Given the description of an element on the screen output the (x, y) to click on. 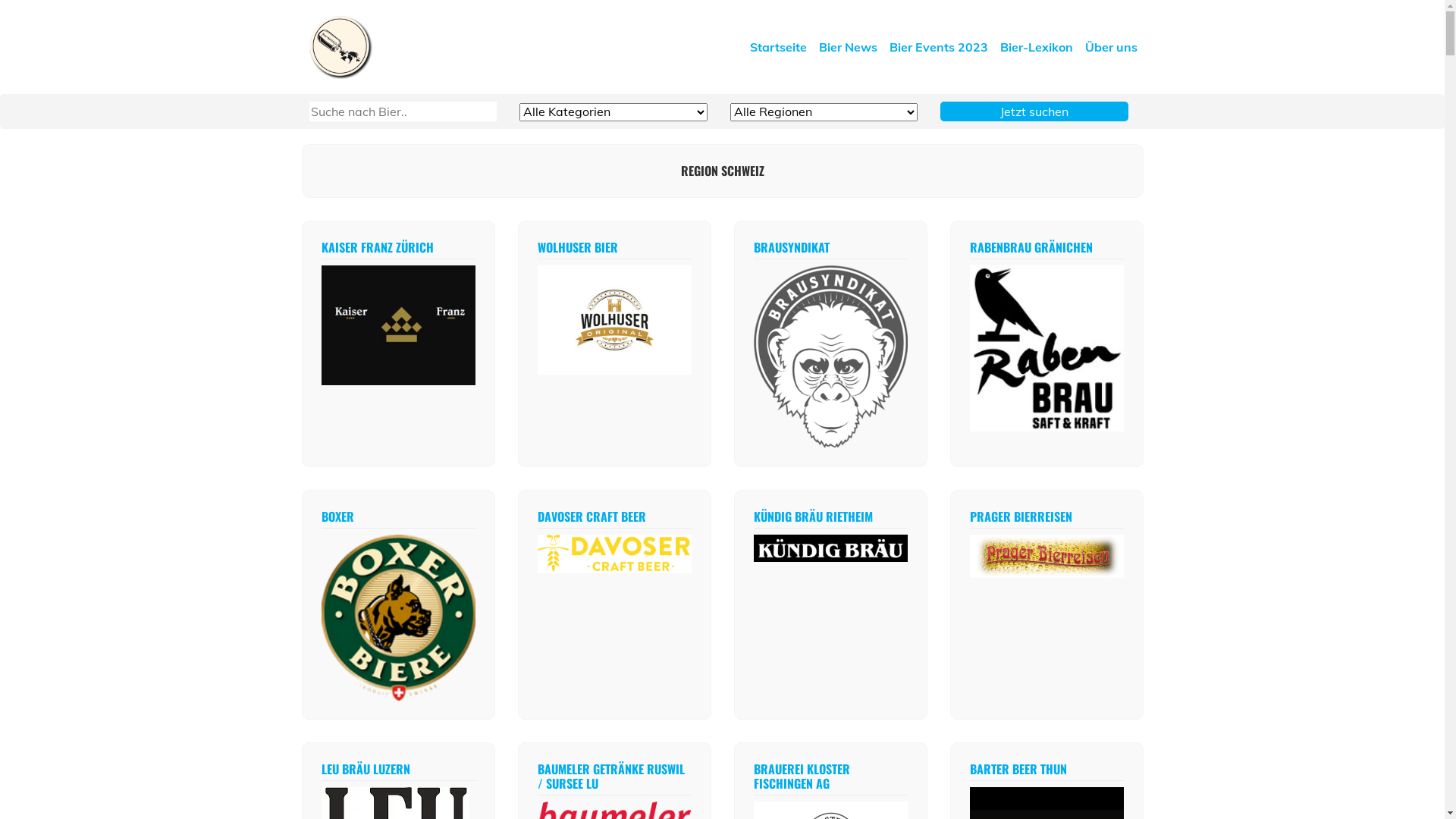
Startseite Element type: text (777, 46)
BARTER BEER THUN Element type: text (1017, 768)
Bier News Element type: text (847, 46)
WOLHUSER BIER Element type: text (576, 247)
PRAGER BIERREISEN Element type: text (1020, 516)
Bier-Lexikon Element type: text (1035, 46)
DAVOSER CRAFT BEER Element type: text (590, 516)
Jetzt suchen Element type: text (1034, 111)
BRAUSYNDIKAT Element type: text (791, 247)
BRAUEREI KLOSTER FISCHINGEN AG Element type: text (801, 775)
BOXER Element type: text (337, 516)
Bier Events 2023 Element type: text (937, 46)
